Given the description of an element on the screen output the (x, y) to click on. 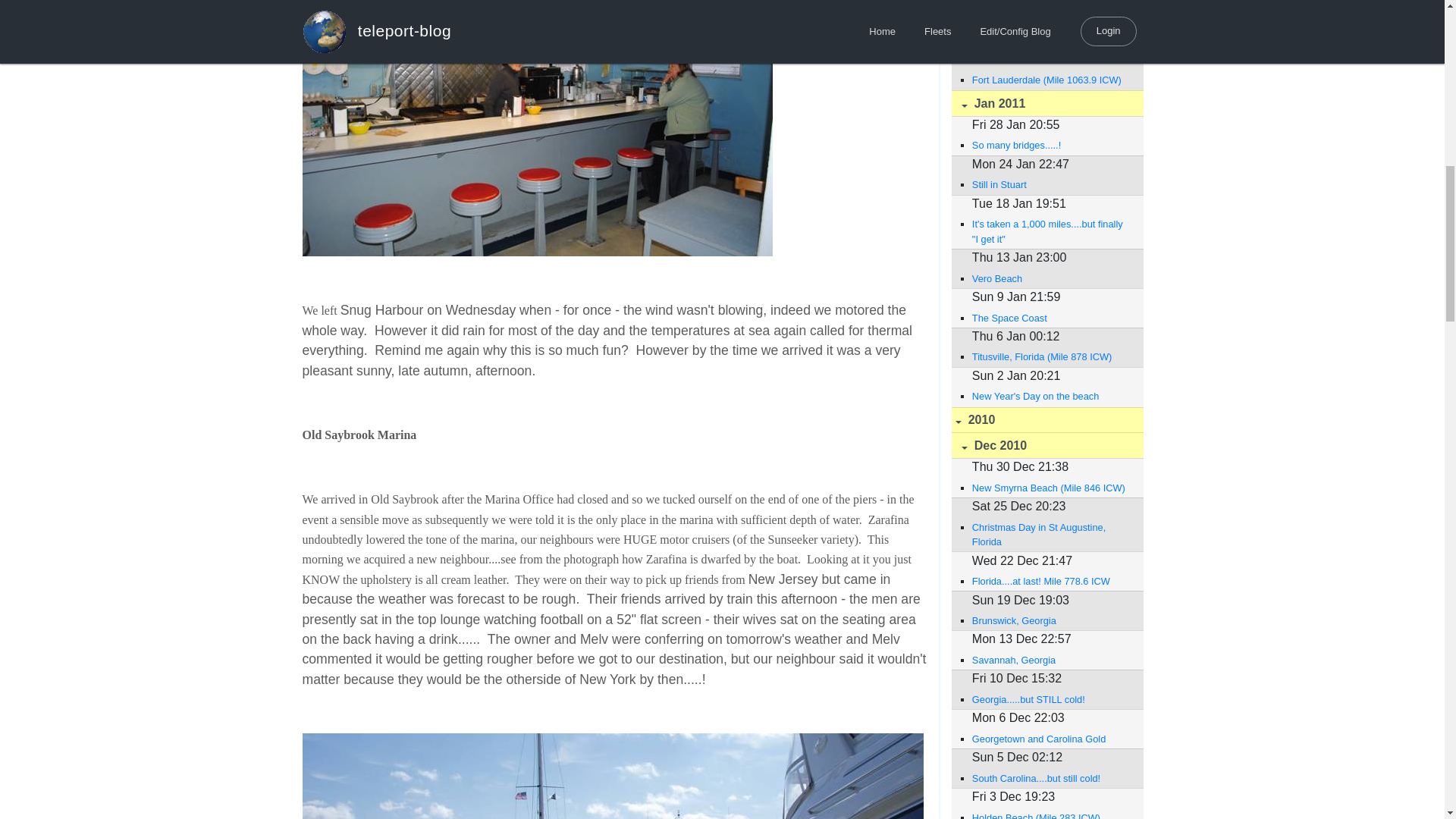
The Bahamas (1050, 40)
Still in Stuart (1050, 184)
Jan 2011 (1046, 103)
Feb 2011 (1046, 6)
So many bridges.....! (1050, 145)
